Given the description of an element on the screen output the (x, y) to click on. 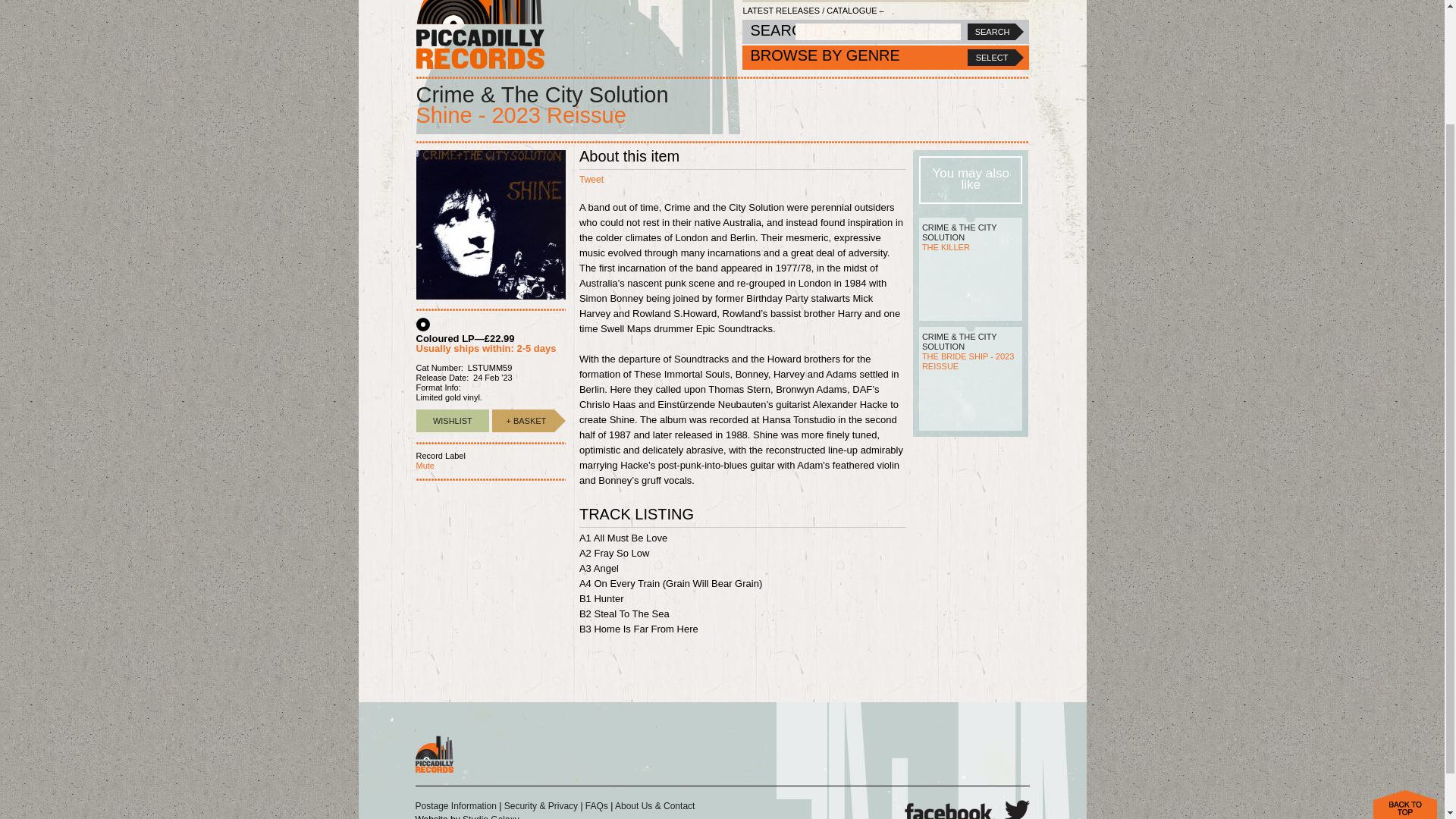
Search for other items on Mute (423, 465)
WISHLIST (451, 420)
FAQs (596, 805)
Tweet (591, 179)
Postage Information (455, 805)
Mute (423, 465)
Usually ships within: 2-5 days (485, 348)
Item usually despatched within 2-5 days (523, 420)
Piccadilly Records (478, 34)
